Given the description of an element on the screen output the (x, y) to click on. 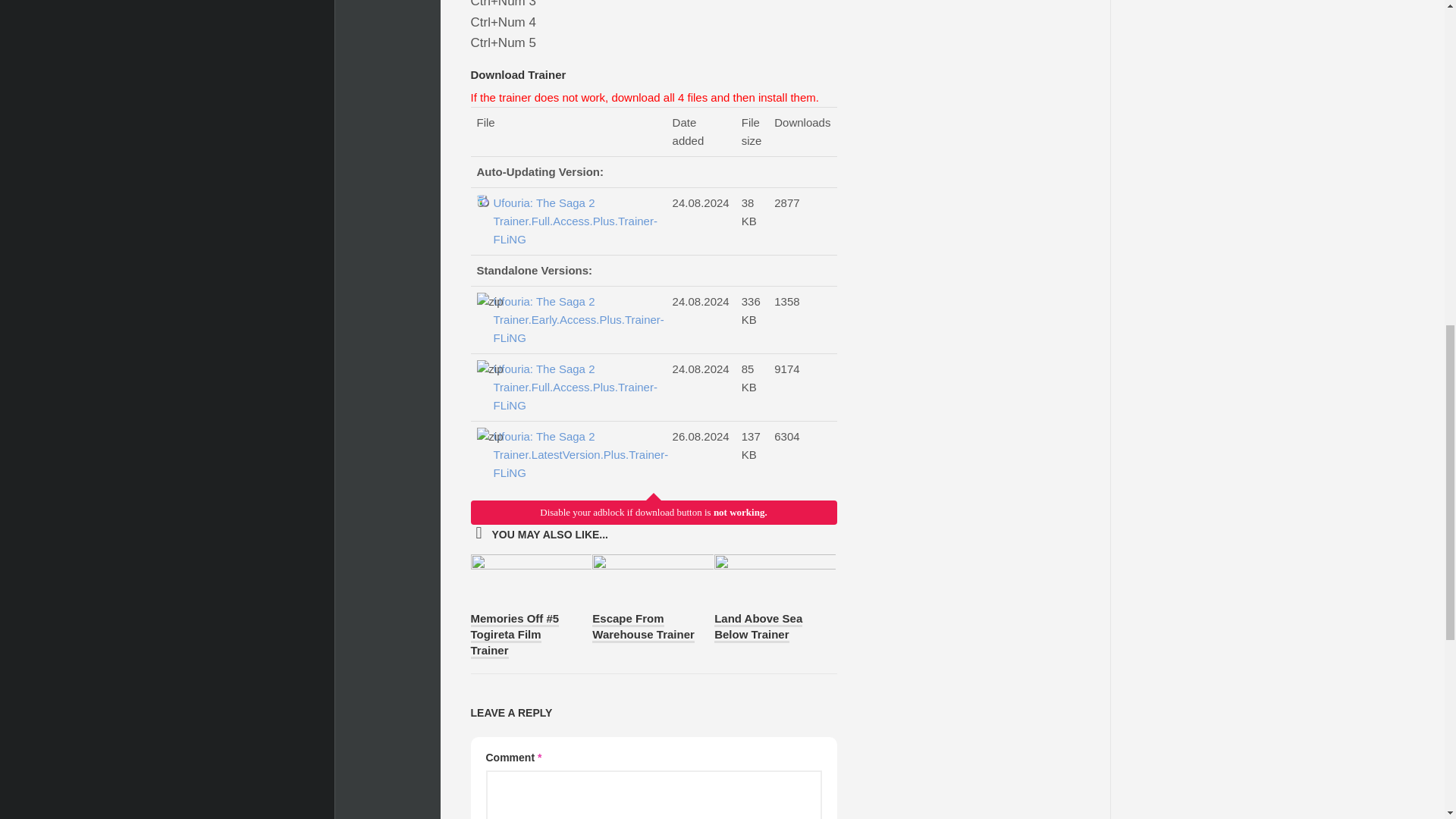
Ufouria: The Saga 2 Trainer.Full.Access.Plus.Trainer-FLiNG (575, 386)
Ufouria: The Saga 2 Trainer.LatestVersion.Plus.Trainer-FLiNG (575, 454)
Escape From Warehouse Trainer (643, 626)
Ufouria: The Saga 2 Trainer.Early.Access.Plus.Trainer-FLiNG (575, 319)
Ufouria: The Saga 2 Trainer.Full.Access.Plus.Trainer-FLiNG (575, 221)
Land Above Sea Below Trainer (758, 626)
